Given the description of an element on the screen output the (x, y) to click on. 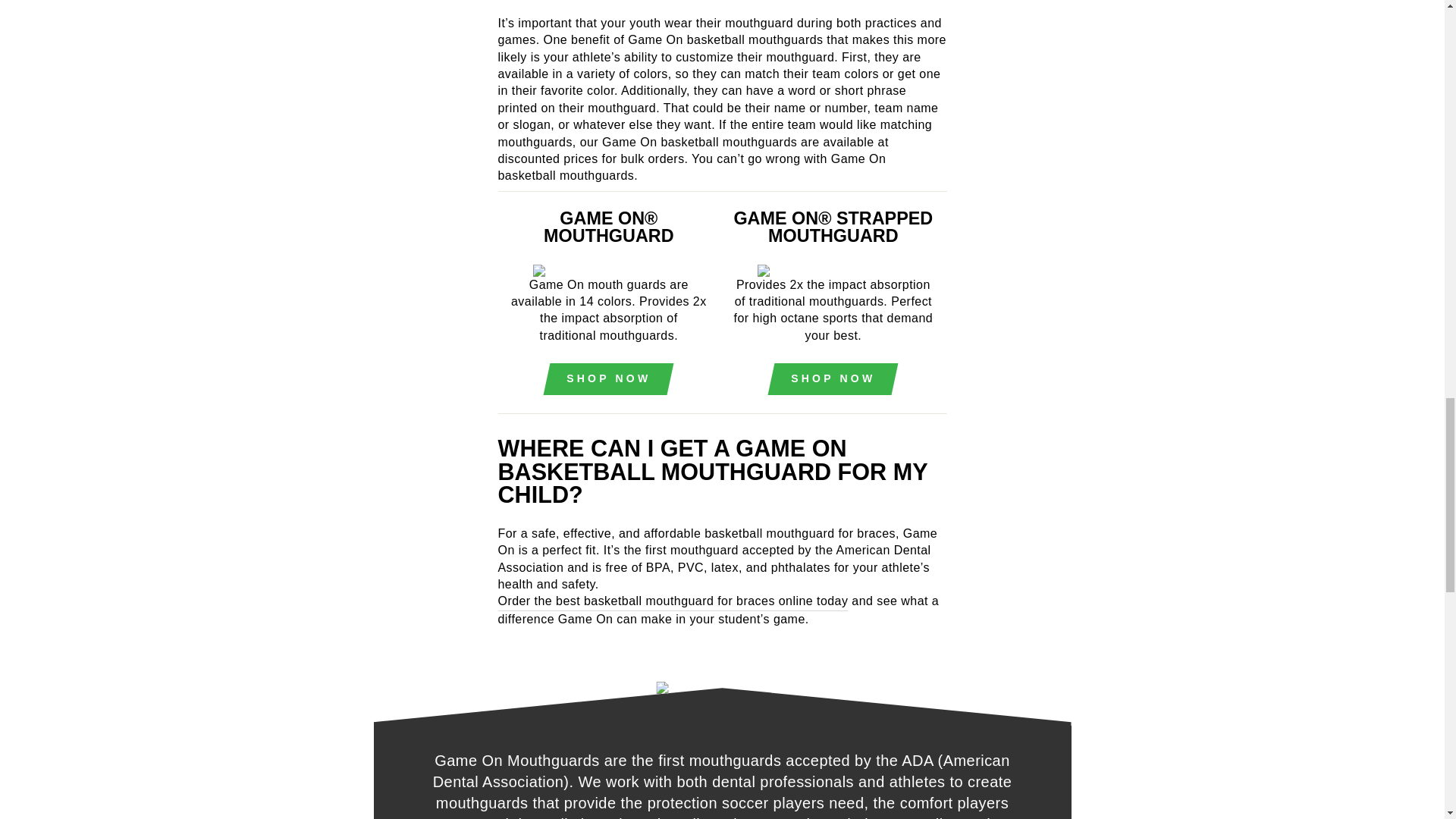
SHOP NOW (608, 378)
Order the best basketball mouthguard for braces online today (672, 601)
SHOP NOW (832, 378)
